Given the description of an element on the screen output the (x, y) to click on. 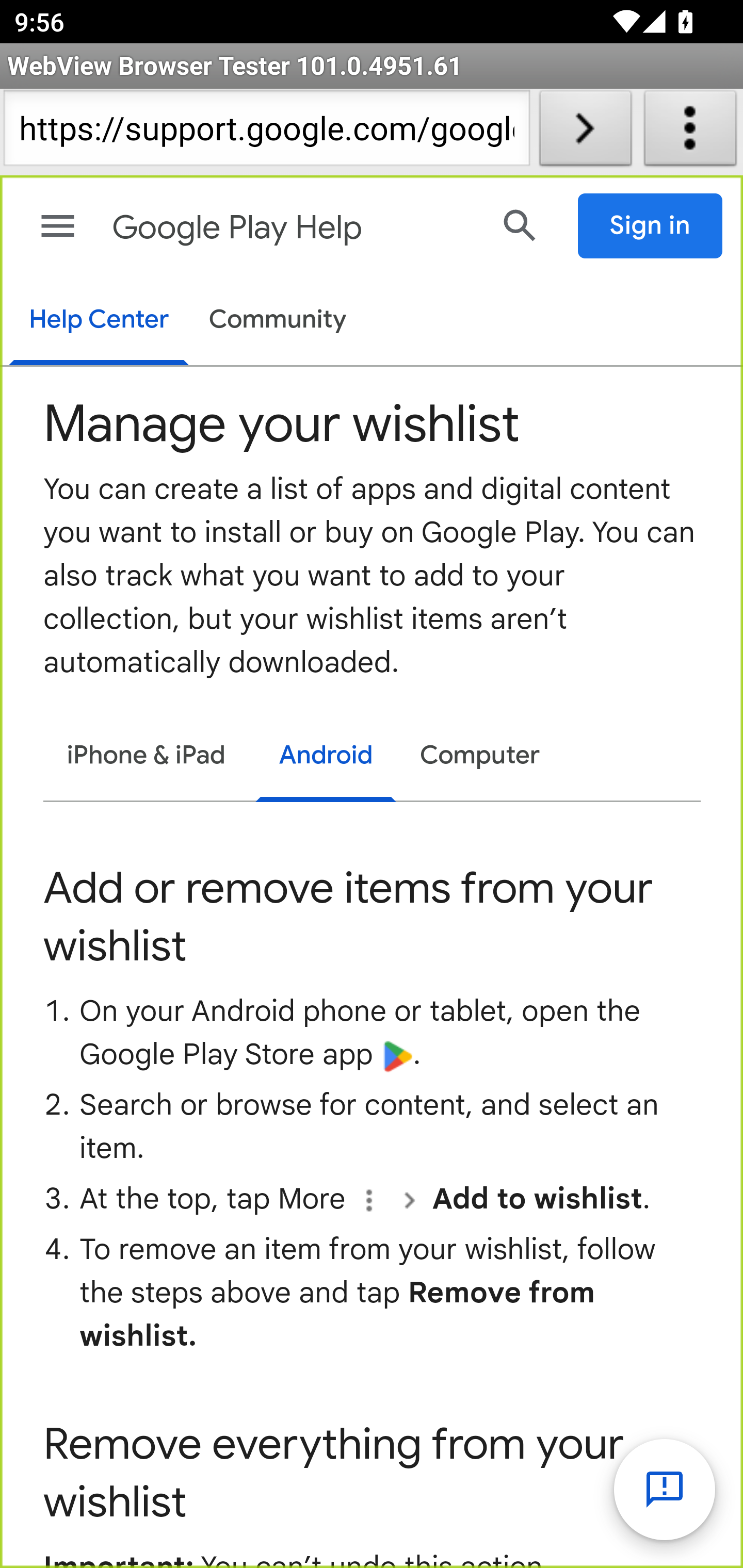
Load URL (585, 132)
About WebView (690, 132)
Main menu (58, 226)
Google Play Help (292, 227)
Search Help Center (519, 225)
Sign in (650, 226)
Help Center (98, 320)
Community (277, 320)
iPhone & iPad (145, 756)
Android (325, 757)
Computer (479, 756)
